Given the description of an element on the screen output the (x, y) to click on. 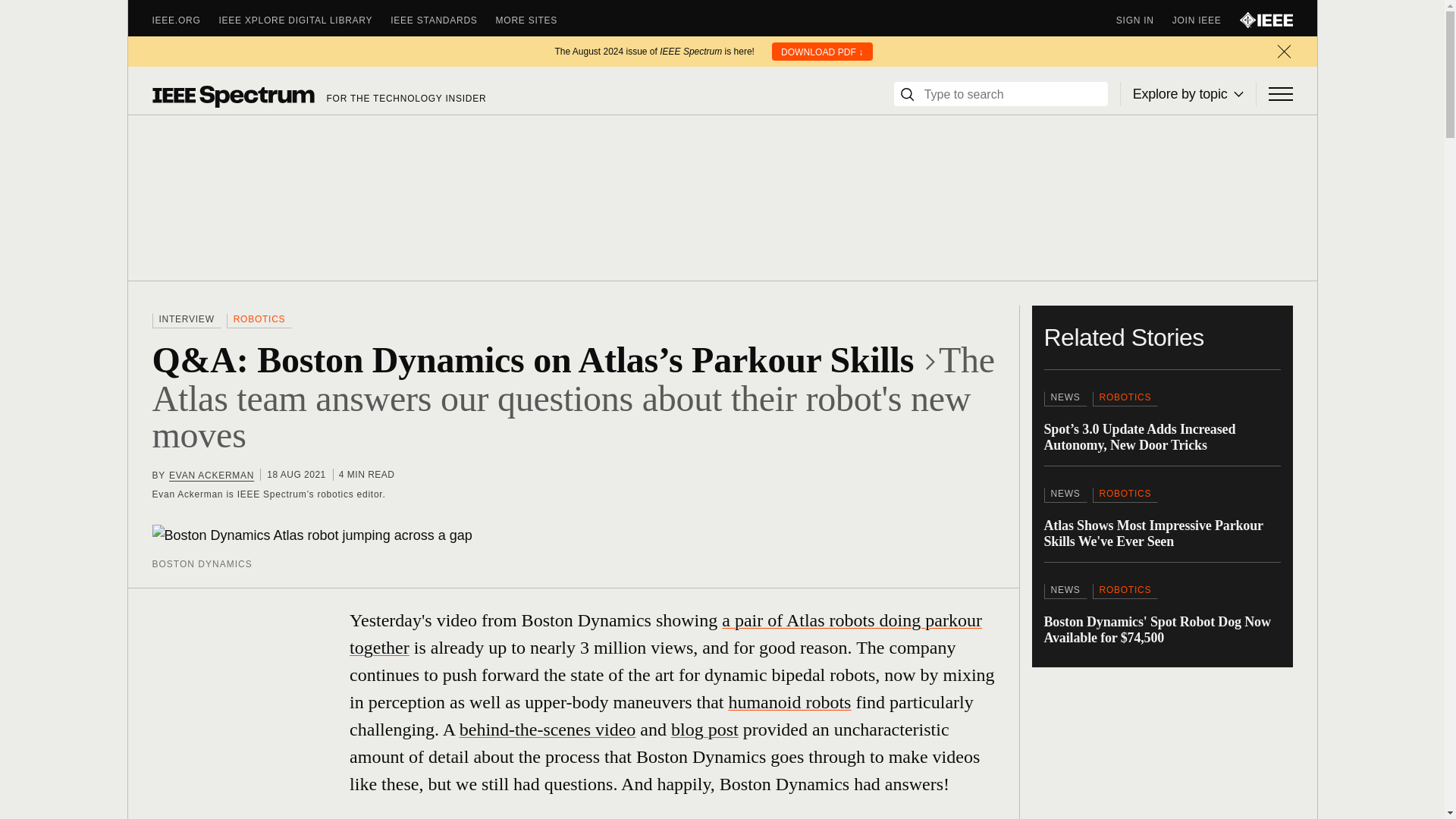
IEEE.ORG (184, 20)
Search (907, 93)
SIGN IN (1144, 20)
Spectrum Logo (232, 95)
IEEE STANDARDS (442, 20)
MORE SITES (536, 20)
JOIN IEEE (1206, 20)
Close bar (1283, 51)
IEEE XPLORE DIGITAL LIBRARY (305, 20)
